Given the description of an element on the screen output the (x, y) to click on. 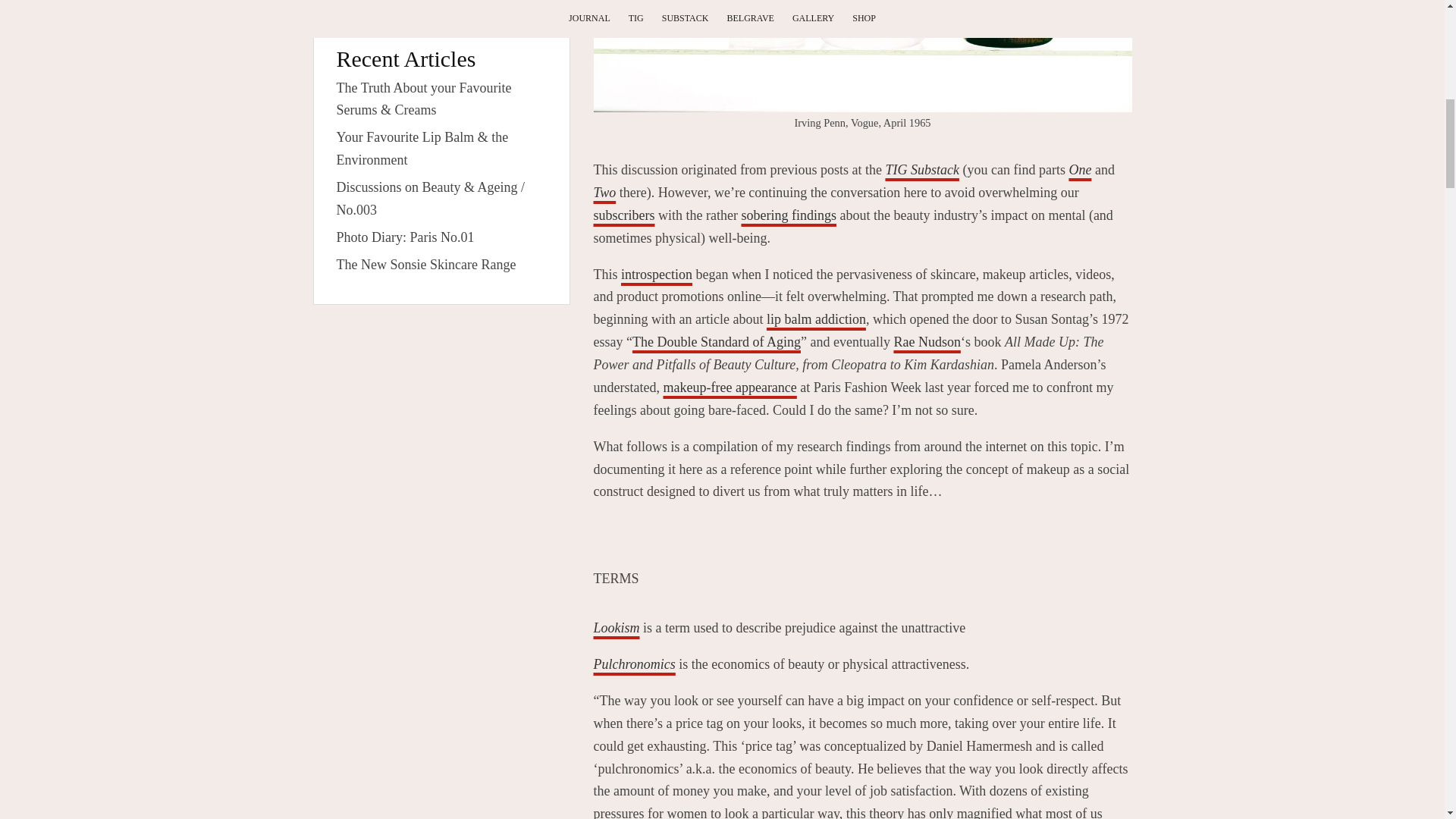
Lookism (615, 627)
Pulchronomics (633, 663)
Two (603, 192)
The Double Standard of Aging (715, 341)
TIG Substack (922, 169)
lip balm addiction (816, 319)
Rae Nudson (926, 341)
subscribers (622, 215)
One (1079, 169)
makeup-free appearance (729, 387)
